Given the description of an element on the screen output the (x, y) to click on. 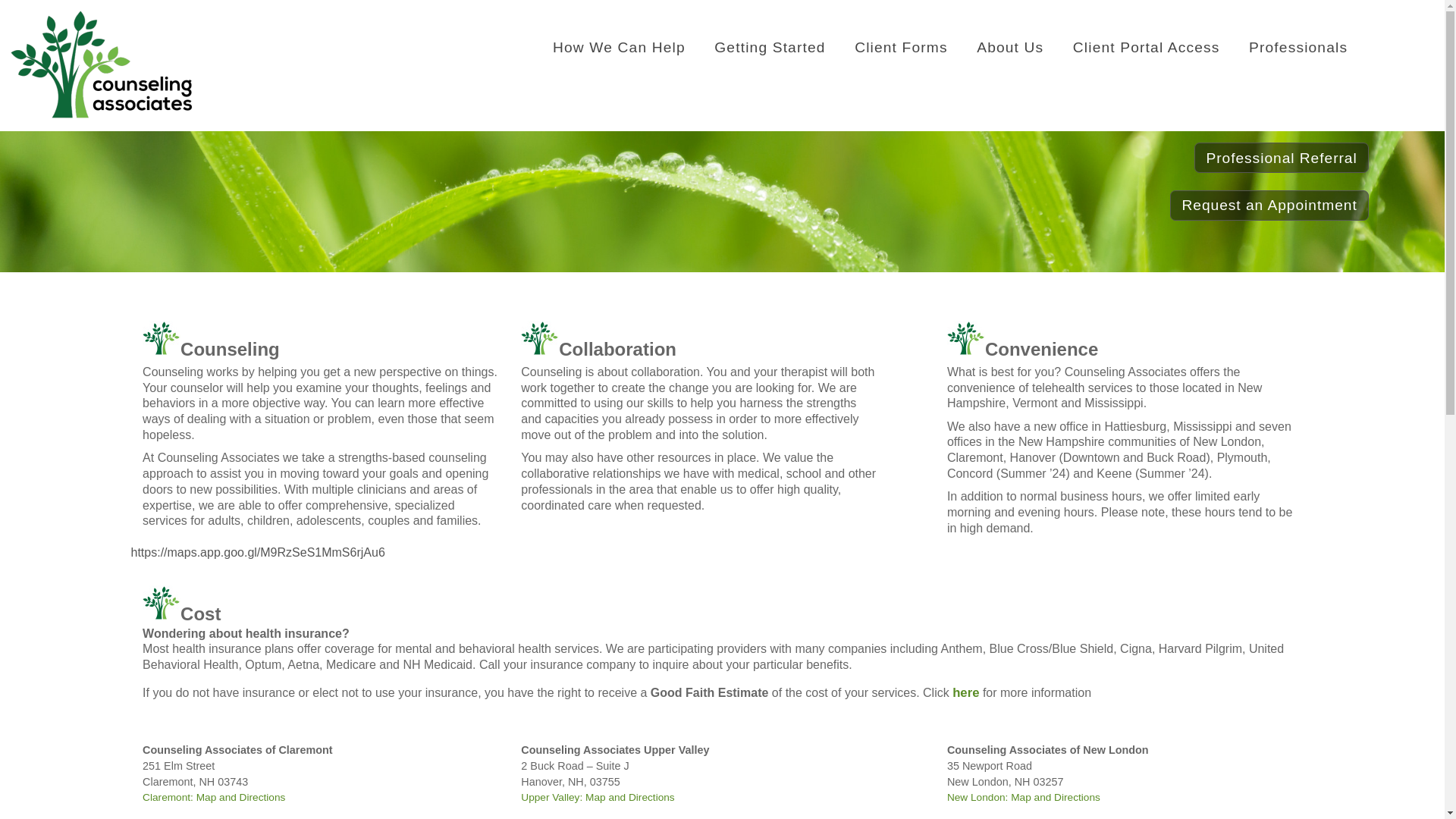
Client Forms (900, 47)
About Us (1009, 47)
Client Portal Access (1146, 47)
Professionals (1298, 47)
How We Can Help (619, 47)
Getting Started (769, 47)
